Given the description of an element on the screen output the (x, y) to click on. 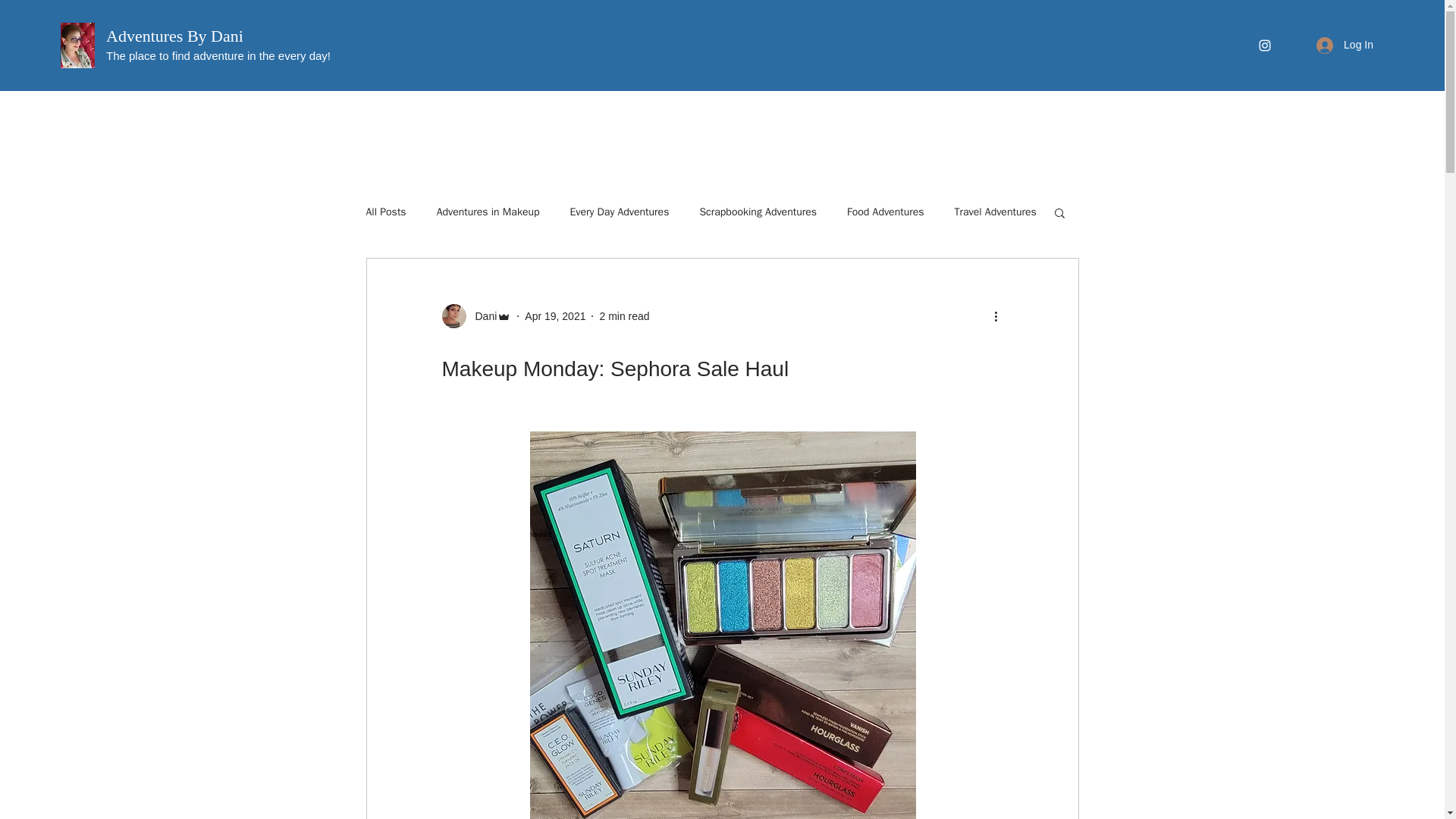
Adventures in Makeup (488, 212)
Dani (480, 316)
Food Adventures (885, 212)
2 min read (623, 316)
Apr 19, 2021 (554, 316)
Log In (1345, 44)
Travel Adventures (995, 212)
Scrapbooking Adventures (757, 212)
Every Day Adventures (619, 212)
Adventures By Dani (174, 35)
All Posts (385, 212)
Dani (476, 315)
